Given the description of an element on the screen output the (x, y) to click on. 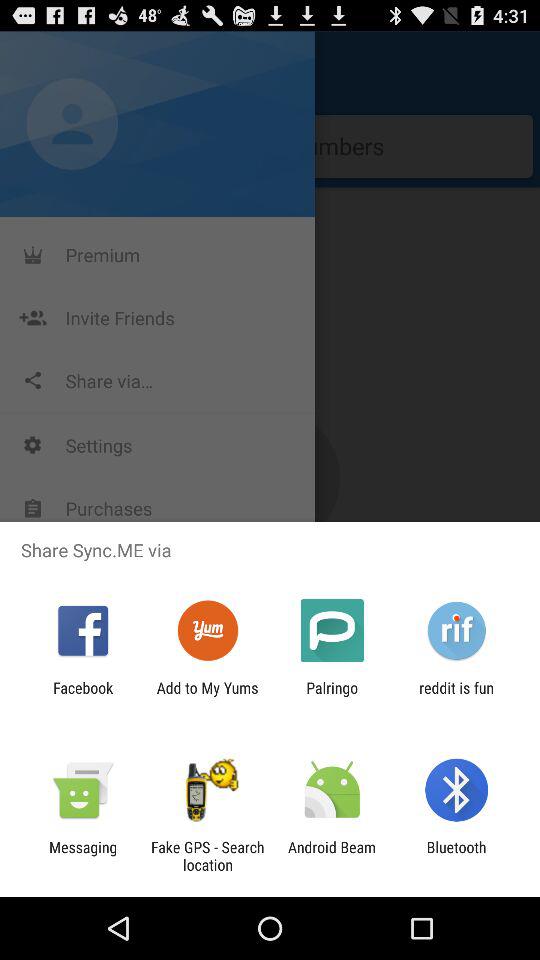
swipe until the add to my icon (207, 696)
